Given the description of an element on the screen output the (x, y) to click on. 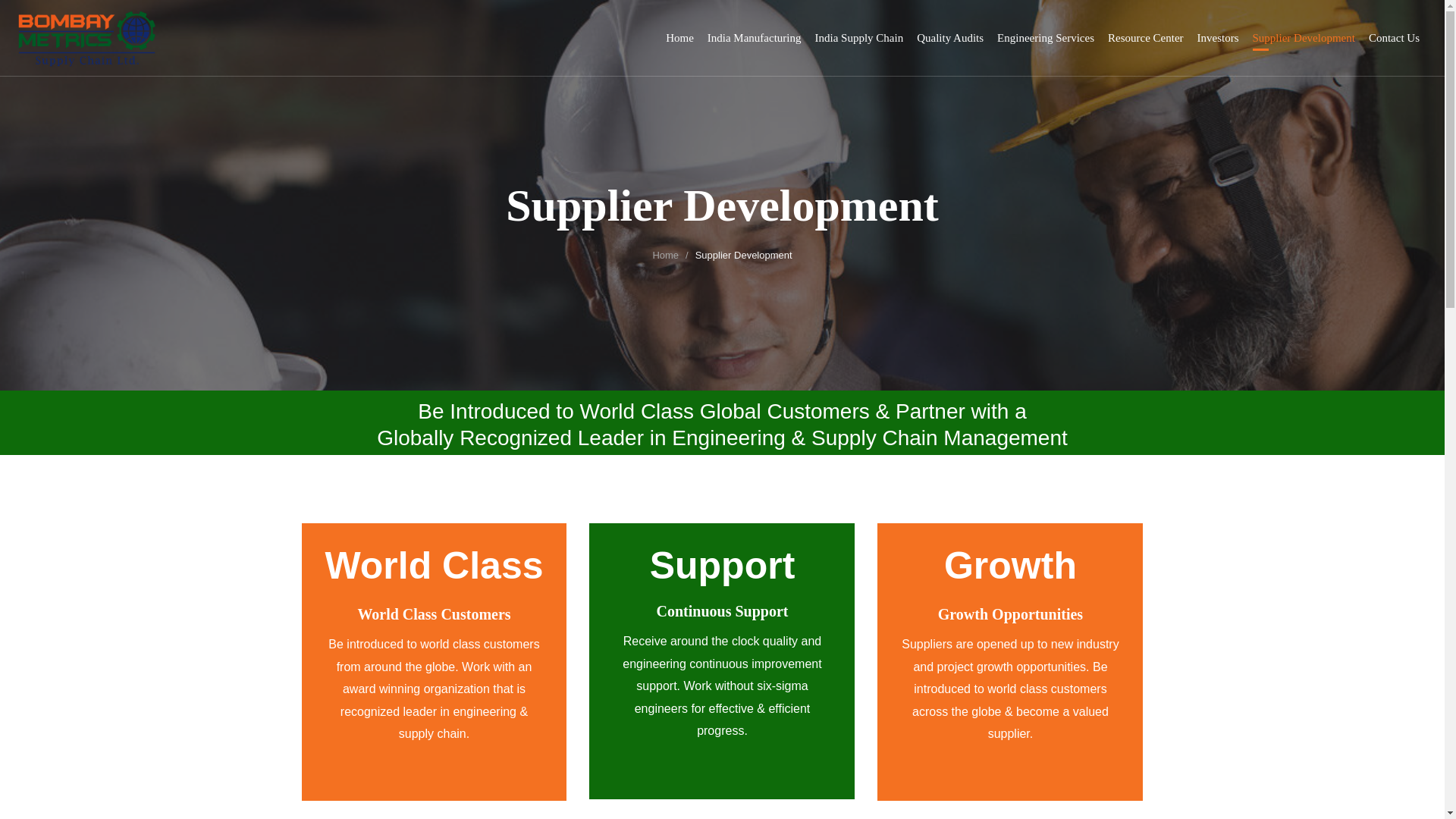
Home (665, 255)
Investors (1217, 37)
Go to Bombay Metrics. (665, 255)
Engineering Services (1045, 37)
Resource Center (1145, 37)
India Supply Chain (859, 37)
India Manufacturing (754, 37)
Home (679, 37)
Supplier Development (1303, 37)
Contact Us (1393, 37)
Quality Audits (950, 37)
